Given the description of an element on the screen output the (x, y) to click on. 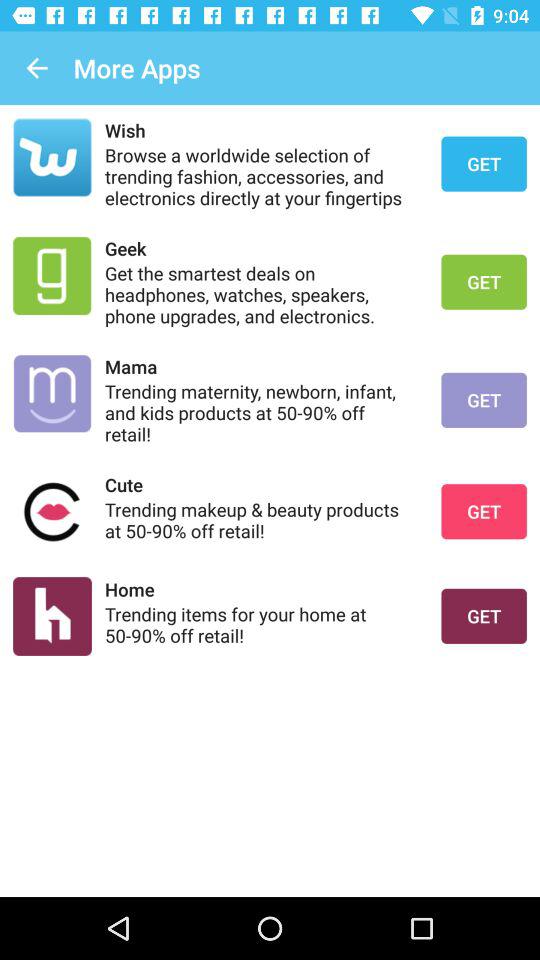
turn off icon to the left of get icon (260, 130)
